Given the description of an element on the screen output the (x, y) to click on. 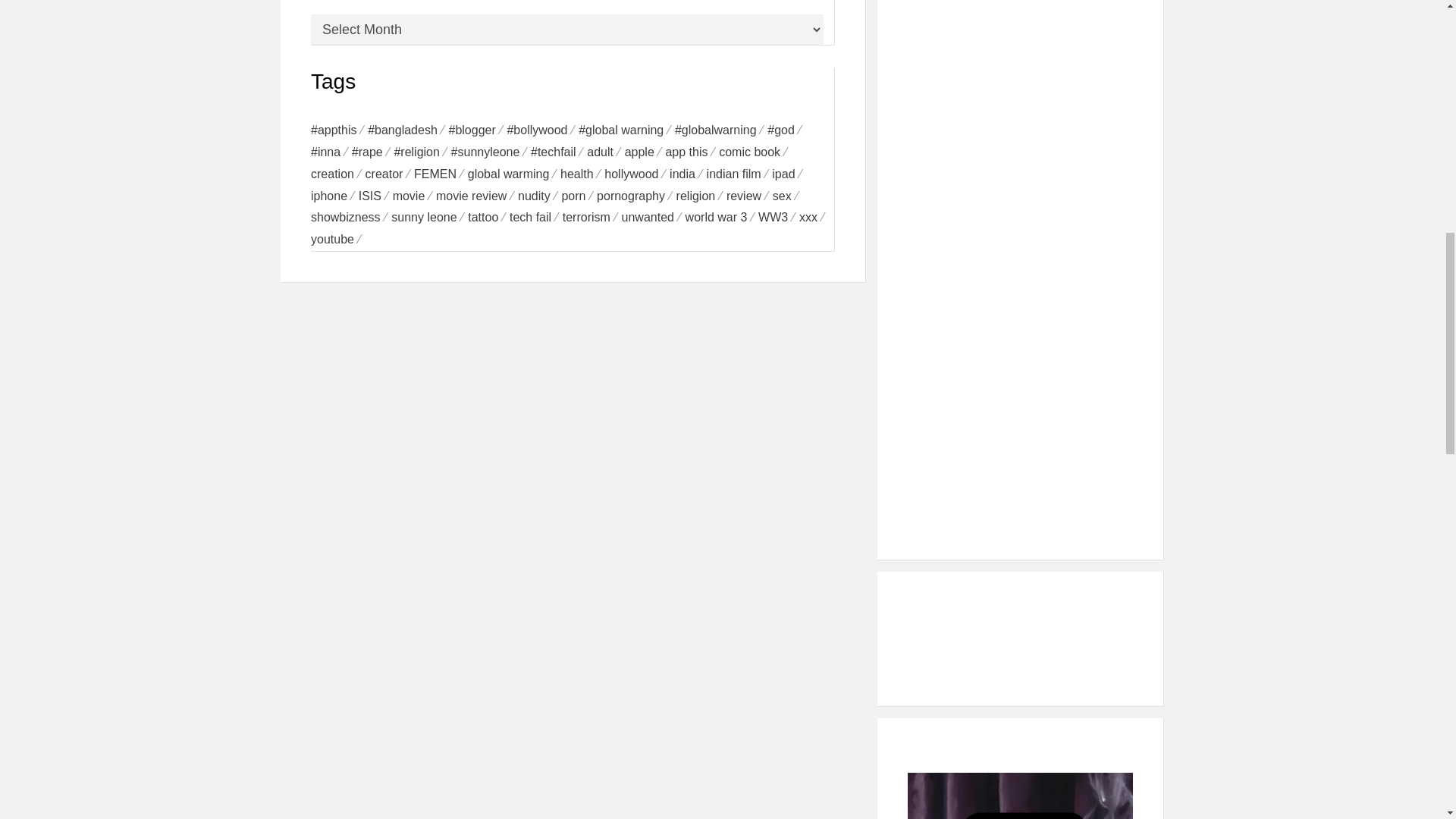
creation (338, 174)
adult (605, 152)
comic book (755, 152)
apple (644, 152)
app this (692, 152)
